Given the description of an element on the screen output the (x, y) to click on. 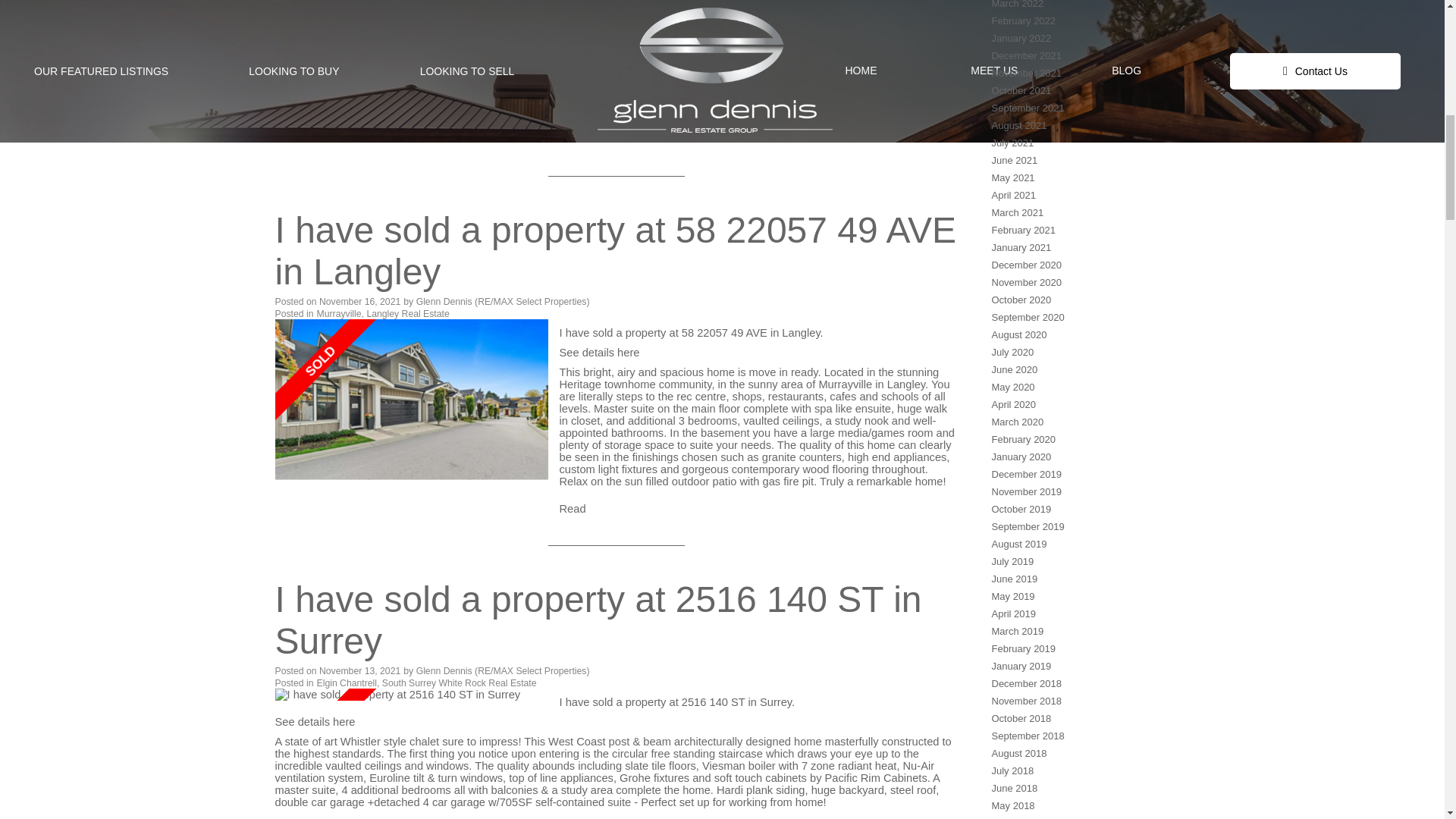
Read full post (411, 411)
Read full post (411, 72)
Read full post (411, 694)
